Given the description of an element on the screen output the (x, y) to click on. 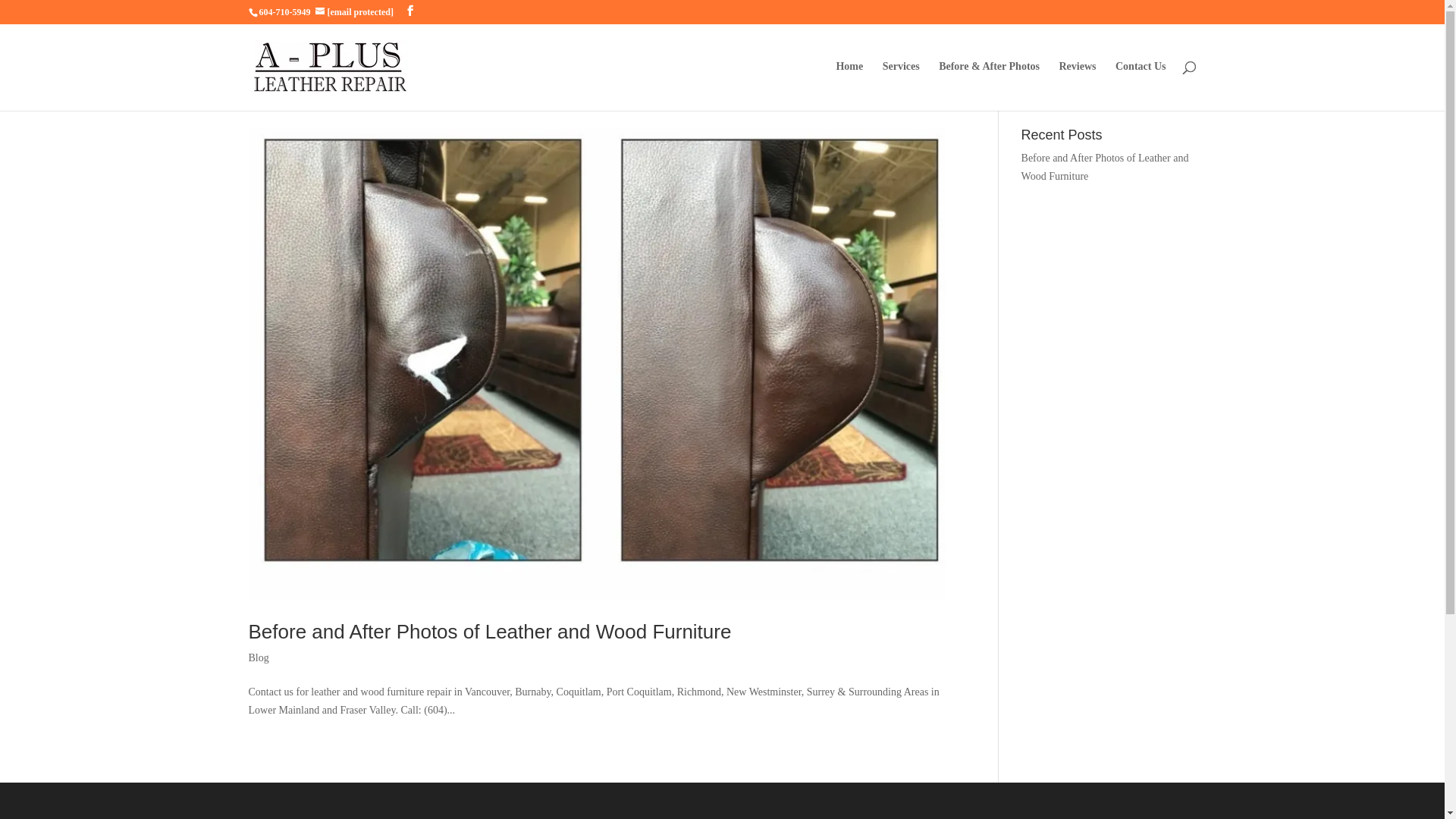
Contact Us Element type: text (1140, 85)
Services Element type: text (900, 85)
[email protected] Element type: text (360, 11)
Before & After Photos Element type: text (988, 85)
Home Element type: text (848, 85)
Blog Element type: text (258, 657)
604-710-5949 Element type: text (284, 11)
Reviews Element type: text (1076, 85)
Before and After Photos of Leather and Wood Furniture Element type: text (1105, 167)
Before and After Photos of Leather and Wood Furniture Element type: text (489, 631)
